Given the description of an element on the screen output the (x, y) to click on. 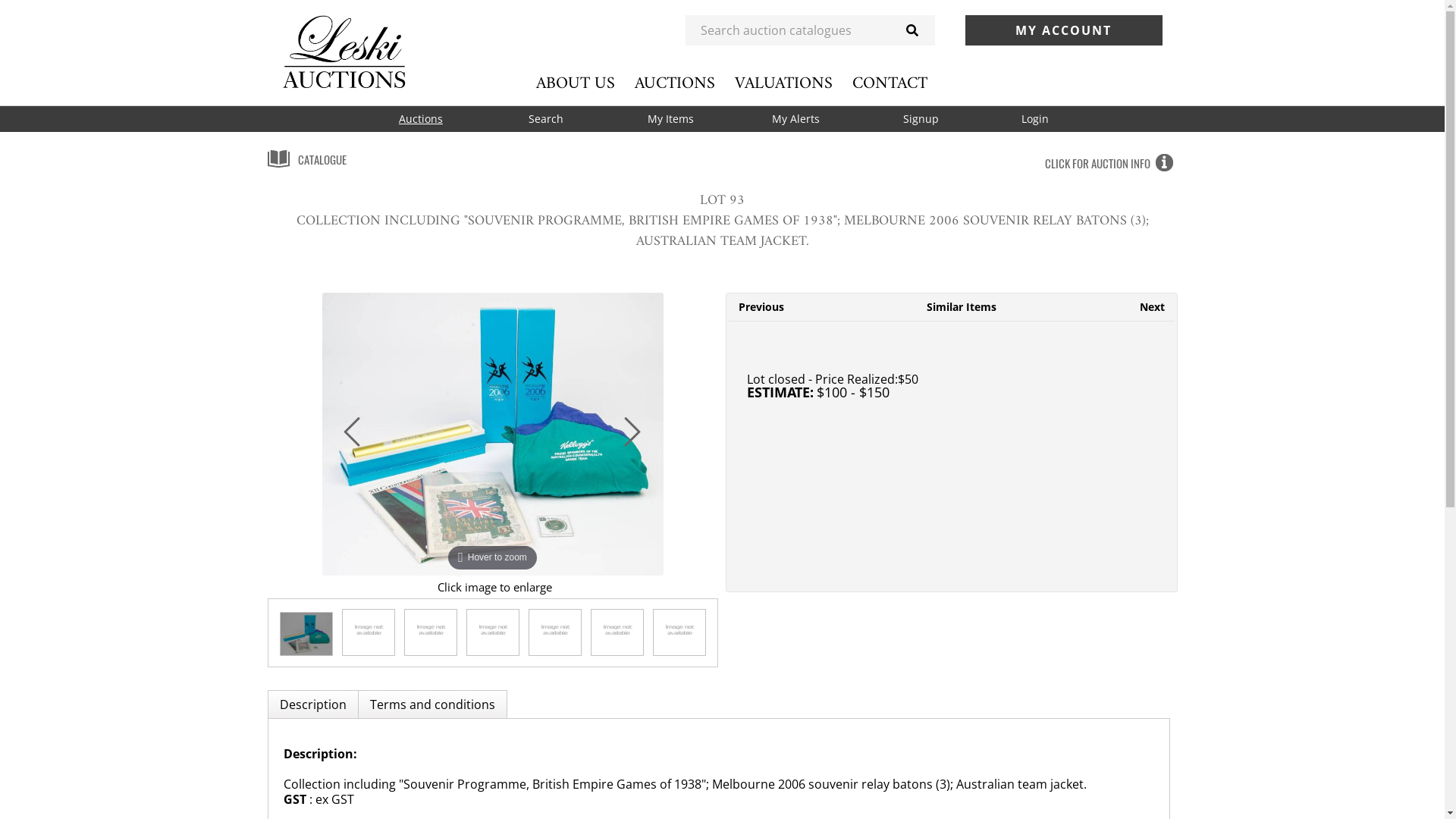
CONTACT Element type: text (889, 83)
Auctions Element type: text (420, 118)
Description Element type: text (311, 704)
Next Element type: text (1151, 306)
My Alerts Element type: text (795, 118)
CATALOGUE Element type: text (305, 159)
Login Element type: text (1034, 118)
Search Element type: text (545, 118)
My Items Element type: text (670, 118)
Similar Items Element type: text (961, 306)
Terms and conditions Element type: text (432, 704)
Next Element type: hover (635, 437)
VALUATIONS Element type: text (782, 83)
AUCTIONS Element type: text (673, 83)
CLICK FOR AUCTION INFO Element type: text (1110, 162)
Previous Element type: hover (355, 437)
ABOUT US Element type: text (574, 83)
Hover to zoom Element type: text (491, 433)
Previous Element type: text (761, 306)
Signup Element type: text (920, 118)
